Given the description of an element on the screen output the (x, y) to click on. 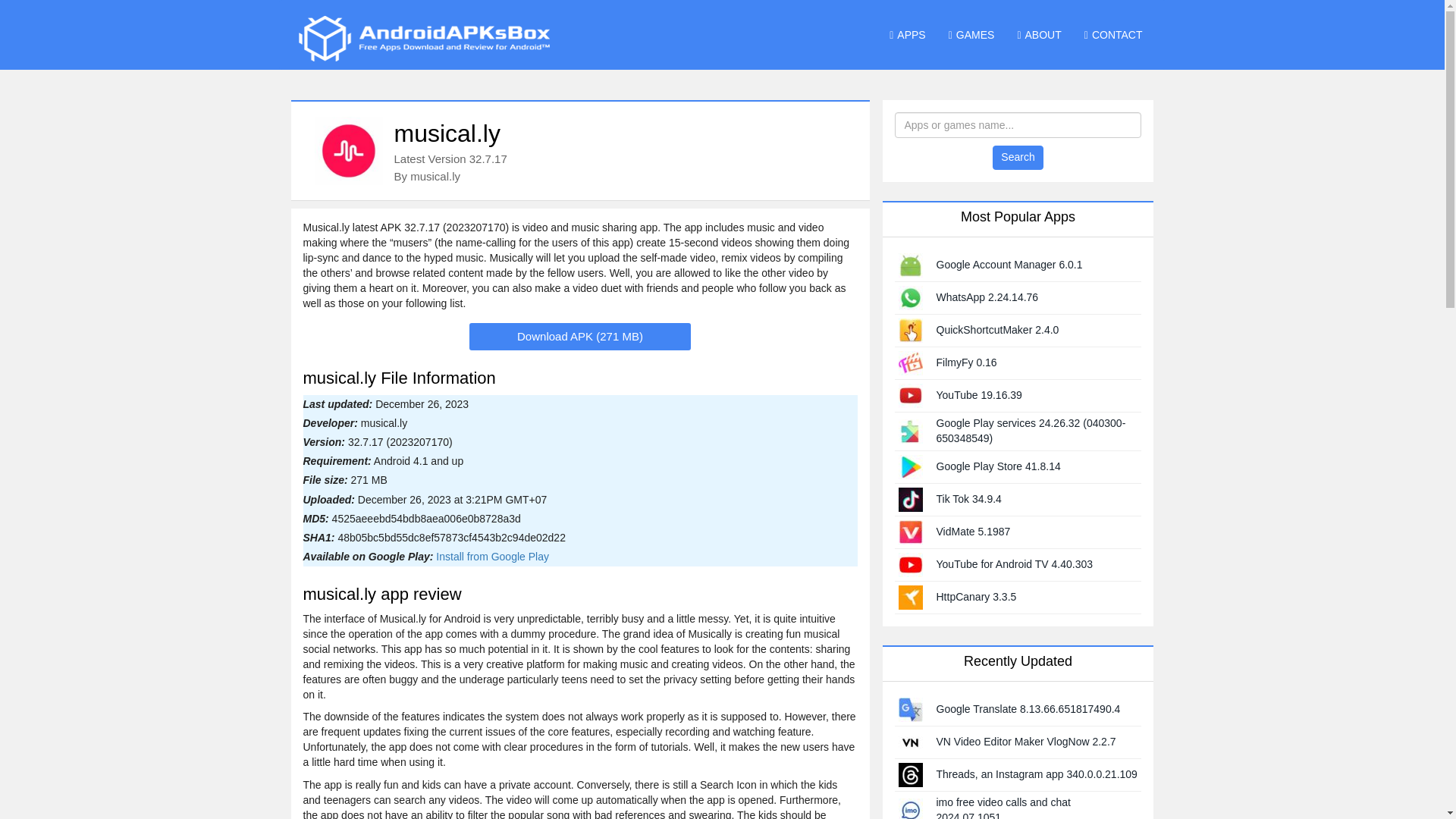
ABOUT (1038, 34)
AndroidAPKsBox (423, 37)
GAMES (971, 34)
Search (1017, 157)
QuickShortcutMaker 2.4.0 (997, 329)
FilmyFy 0.16 (965, 362)
Search (1017, 157)
Google Account Manager Latest Version 6.0.1 APK Download (1008, 264)
Google Play Store 41.8.14 (997, 466)
Google Account Manager 6.0.1 (1008, 264)
Google Account Manager Latest Version 6.0.1 APK Download (909, 263)
WhatsApp 2.24.14.76 (987, 297)
Search (1017, 157)
APPS (906, 34)
WhatsApp Latest Version 2.24.14.76 APK Download (909, 296)
